Given the description of an element on the screen output the (x, y) to click on. 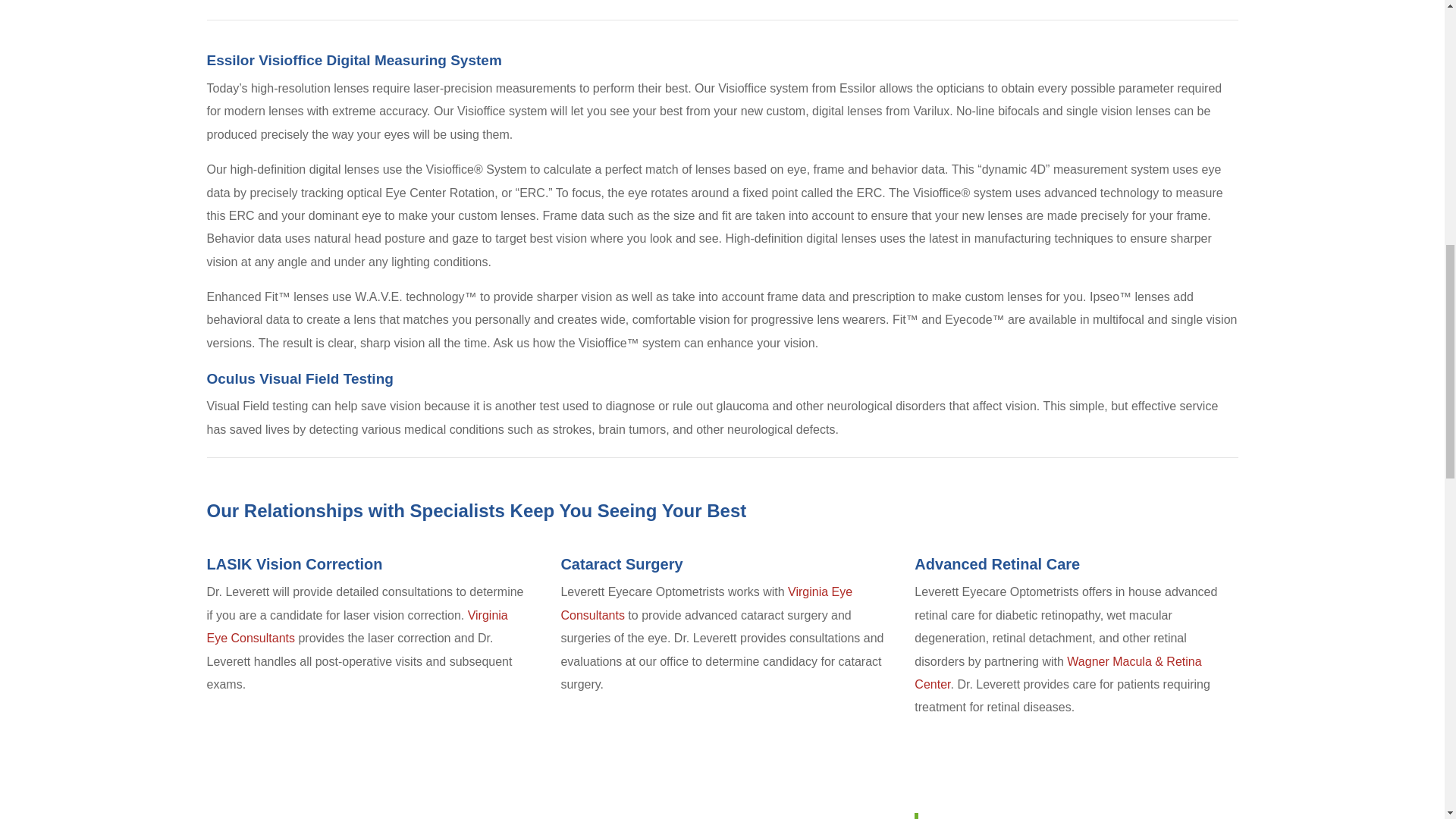
Virginia Eye Consultants (356, 626)
Leverett Eyecare, P.C. (993, 818)
Virginia Eye Consultants (705, 602)
